Given the description of an element on the screen output the (x, y) to click on. 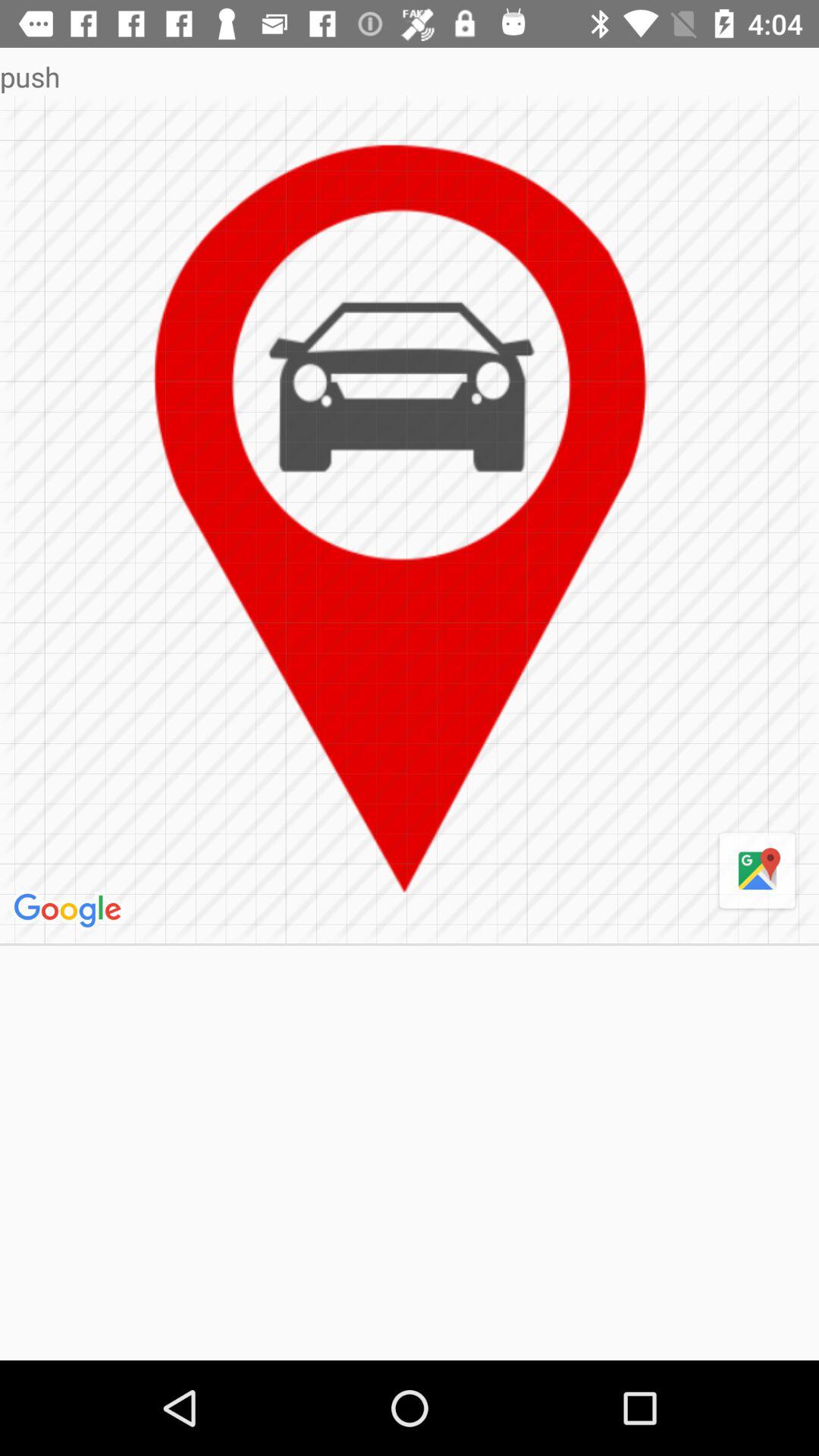
click icon on the right (757, 871)
